Given the description of an element on the screen output the (x, y) to click on. 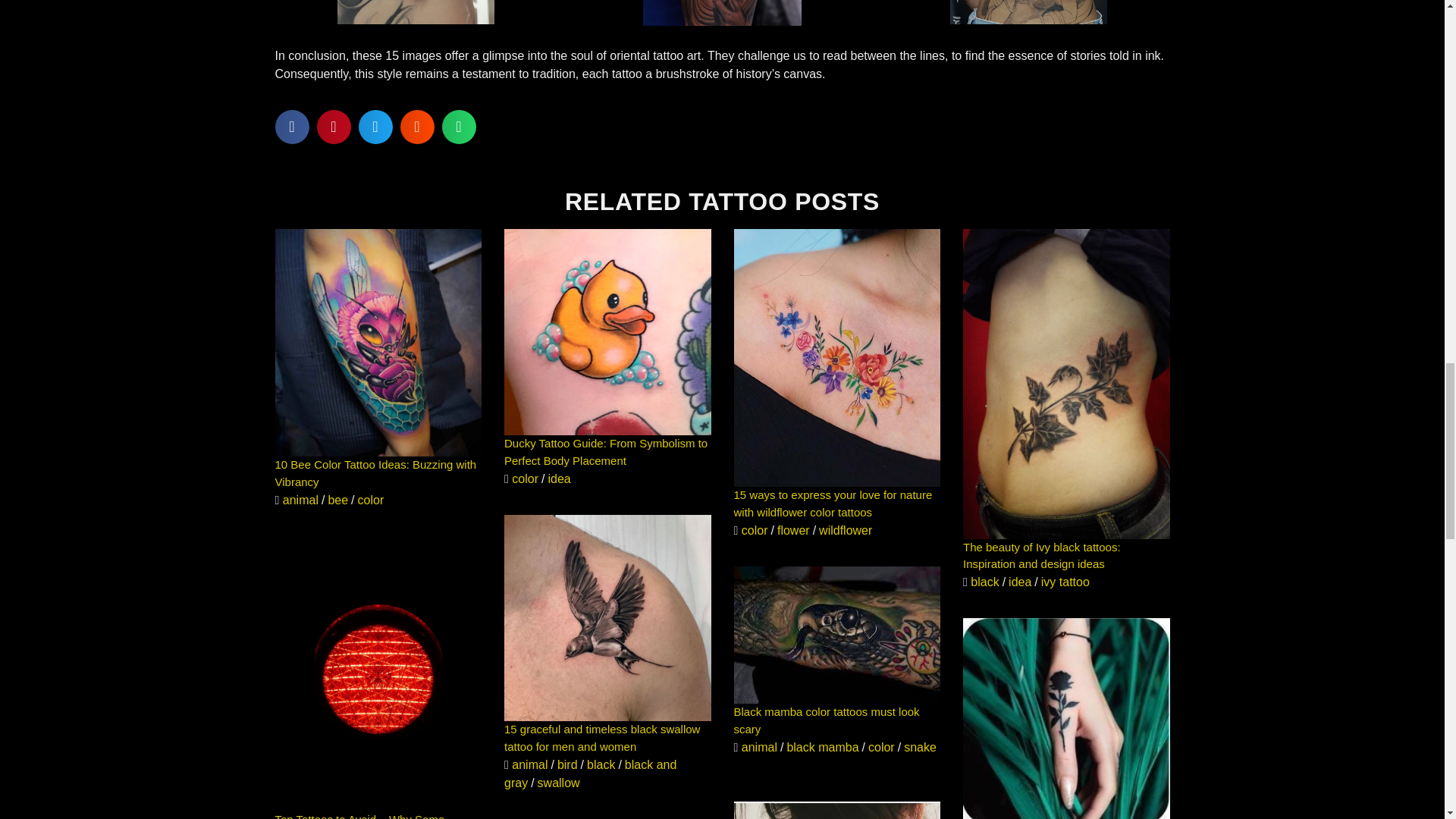
animal (300, 499)
idea (558, 478)
color (754, 530)
10 Bee Color Tattoo Ideas: Buzzing with Vibrancy (375, 472)
color (525, 478)
color (371, 499)
bee (337, 499)
flower (793, 530)
Ducky Tattoo Guide: From Symbolism to Perfect Body Placement (605, 451)
